Given the description of an element on the screen output the (x, y) to click on. 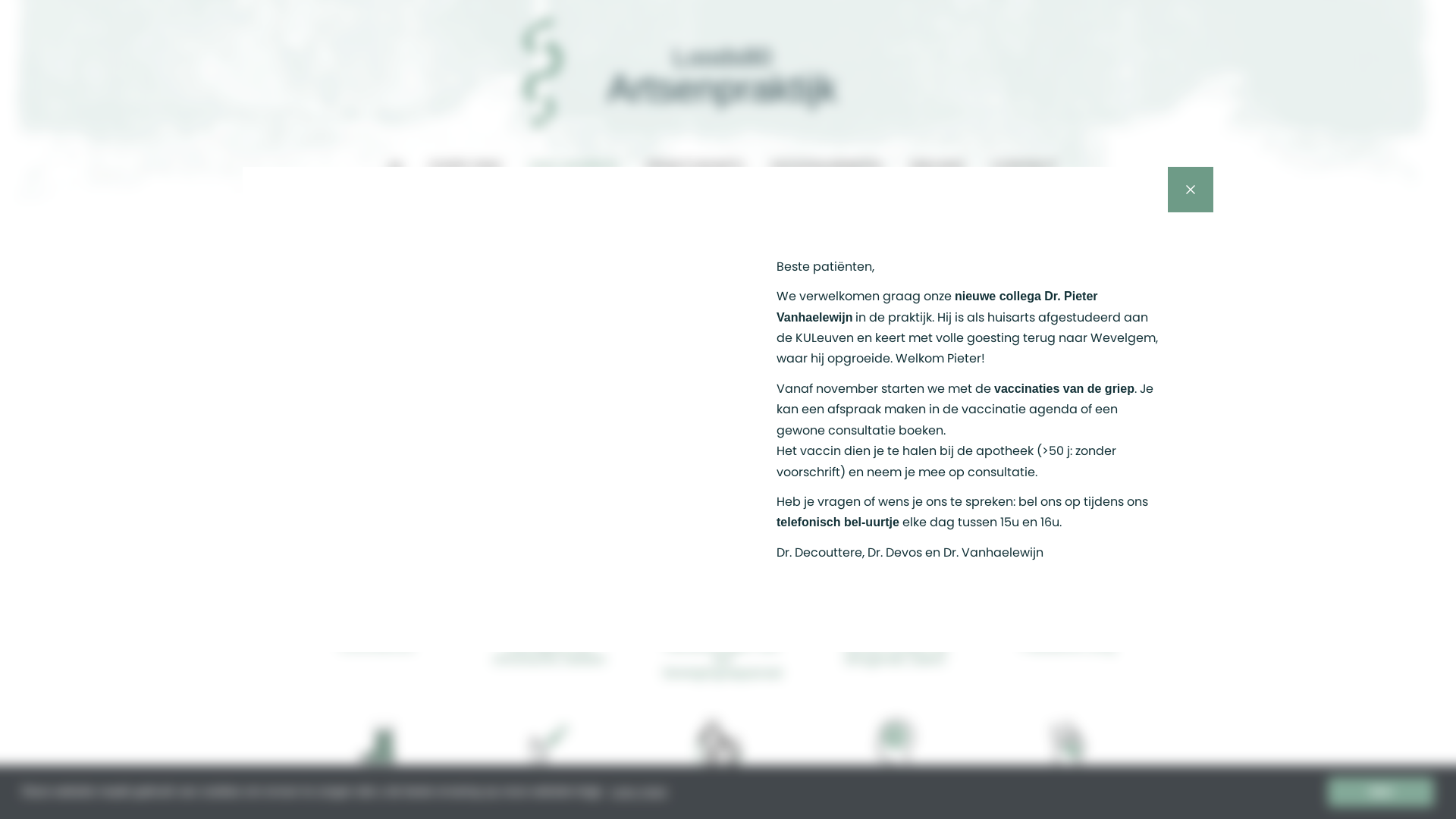
CONTACT Element type: text (1024, 166)
AFSPRAAK MAKEN Element type: text (663, 206)
Lees meer Element type: text (639, 791)
PRAKTIJKINFO Element type: text (695, 166)
NOODNUMMERS Element type: text (826, 166)
NIEUWS Element type: text (936, 166)
ONS AANBOD Element type: text (573, 166)
Close Element type: hover (1190, 189)
056 89 09 66 Element type: text (802, 206)
OVER ONS Element type: text (465, 166)
Loods80
Artsenpraktijk Element type: text (722, 75)
